Given the description of an element on the screen output the (x, y) to click on. 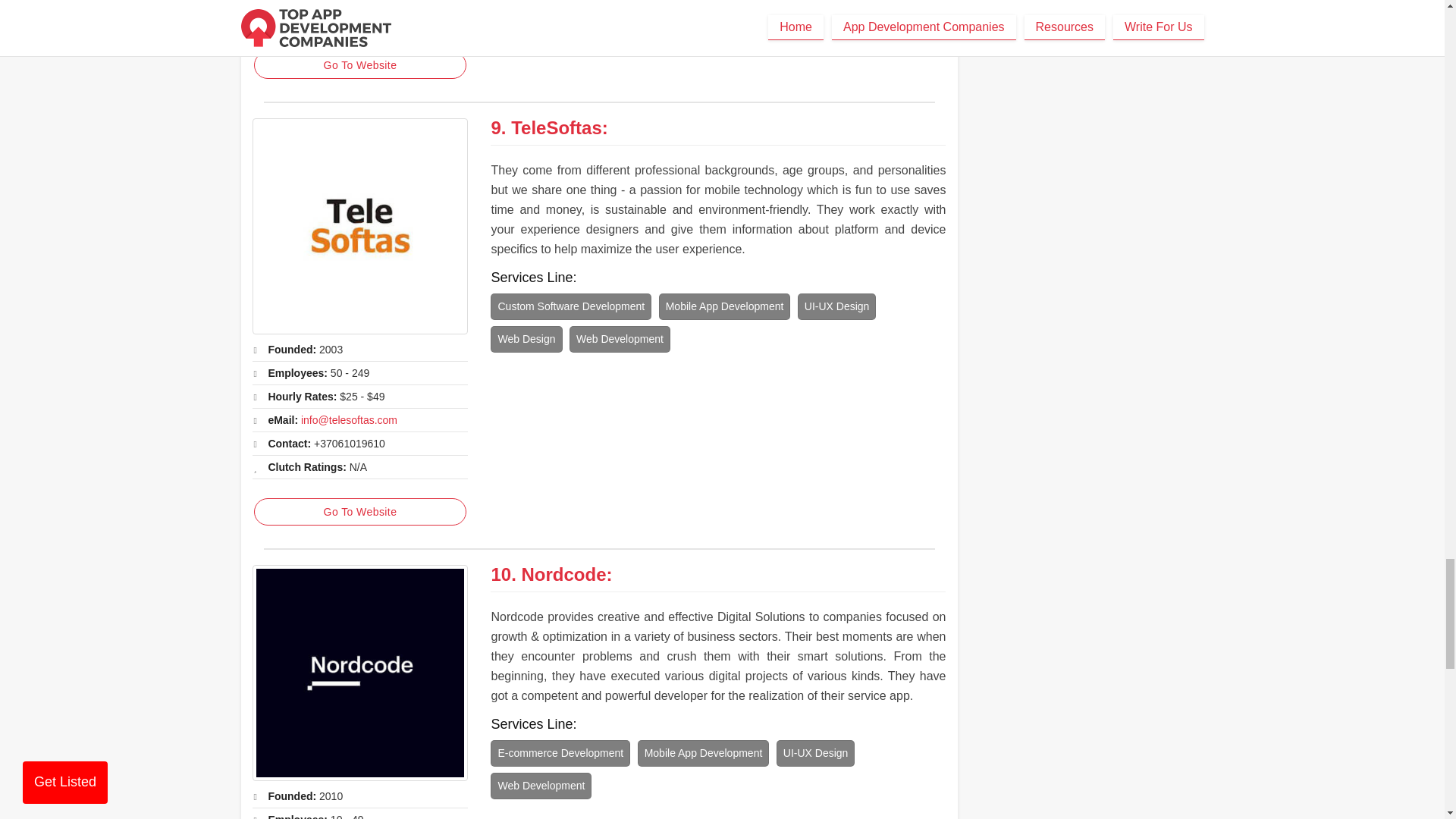
Nordcode (359, 673)
TeleSoftas (359, 225)
